Given the description of an element on the screen output the (x, y) to click on. 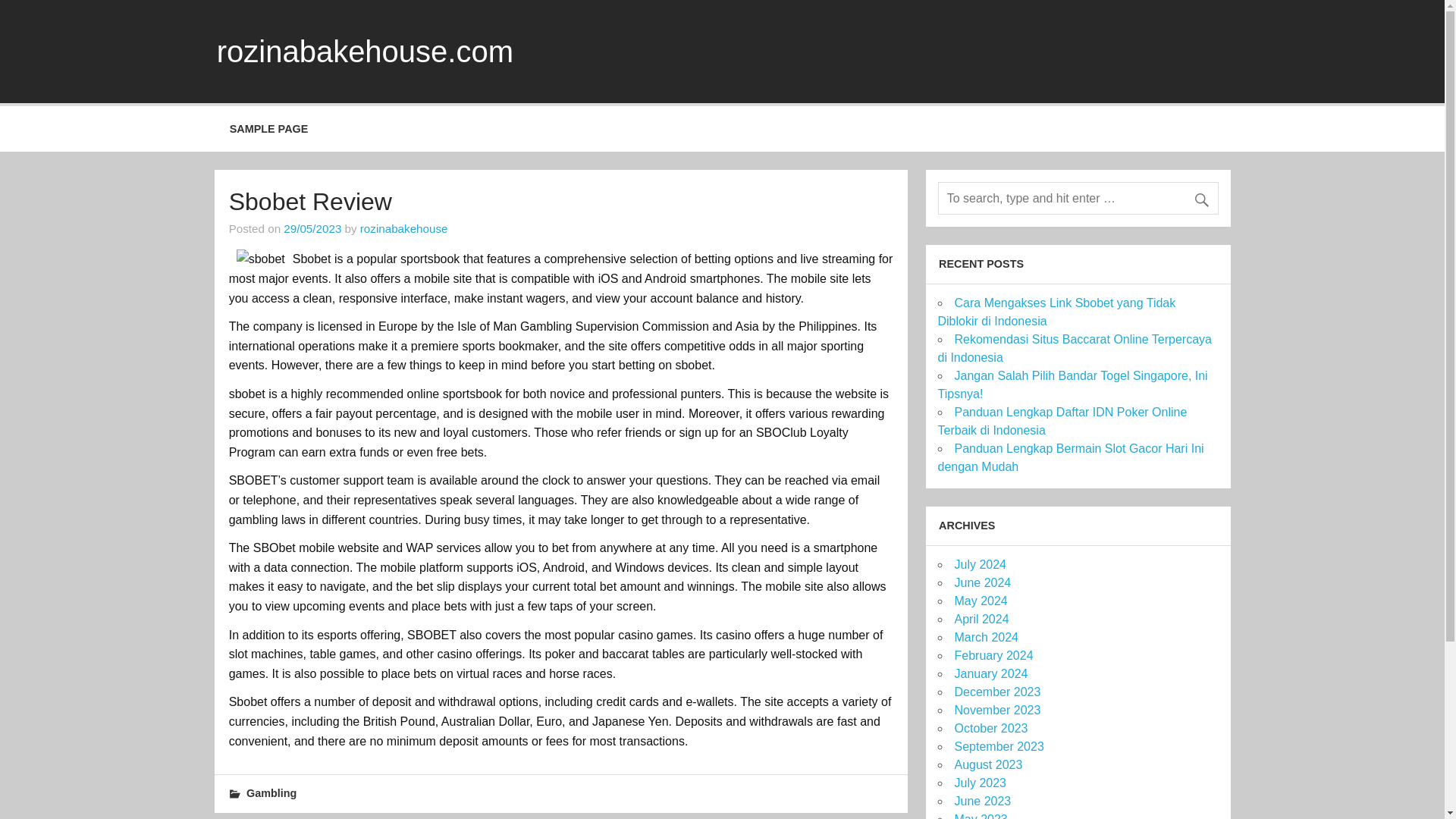
June 2024 (981, 582)
Panduan Lengkap Bermain Slot Gacor Hari Ini dengan Mudah (1070, 457)
April 2024 (981, 618)
6:14 PM (311, 228)
November 2023 (997, 709)
September 2023 (998, 746)
View all posts by rozinabakehouse (403, 228)
Panduan Lengkap Daftar IDN Poker Online Terbaik di Indonesia (1061, 420)
SAMPLE PAGE (268, 128)
August 2023 (987, 764)
December 2023 (997, 691)
rozinabakehouse (403, 228)
January 2024 (990, 673)
February 2024 (992, 655)
May 2024 (980, 600)
